Given the description of an element on the screen output the (x, y) to click on. 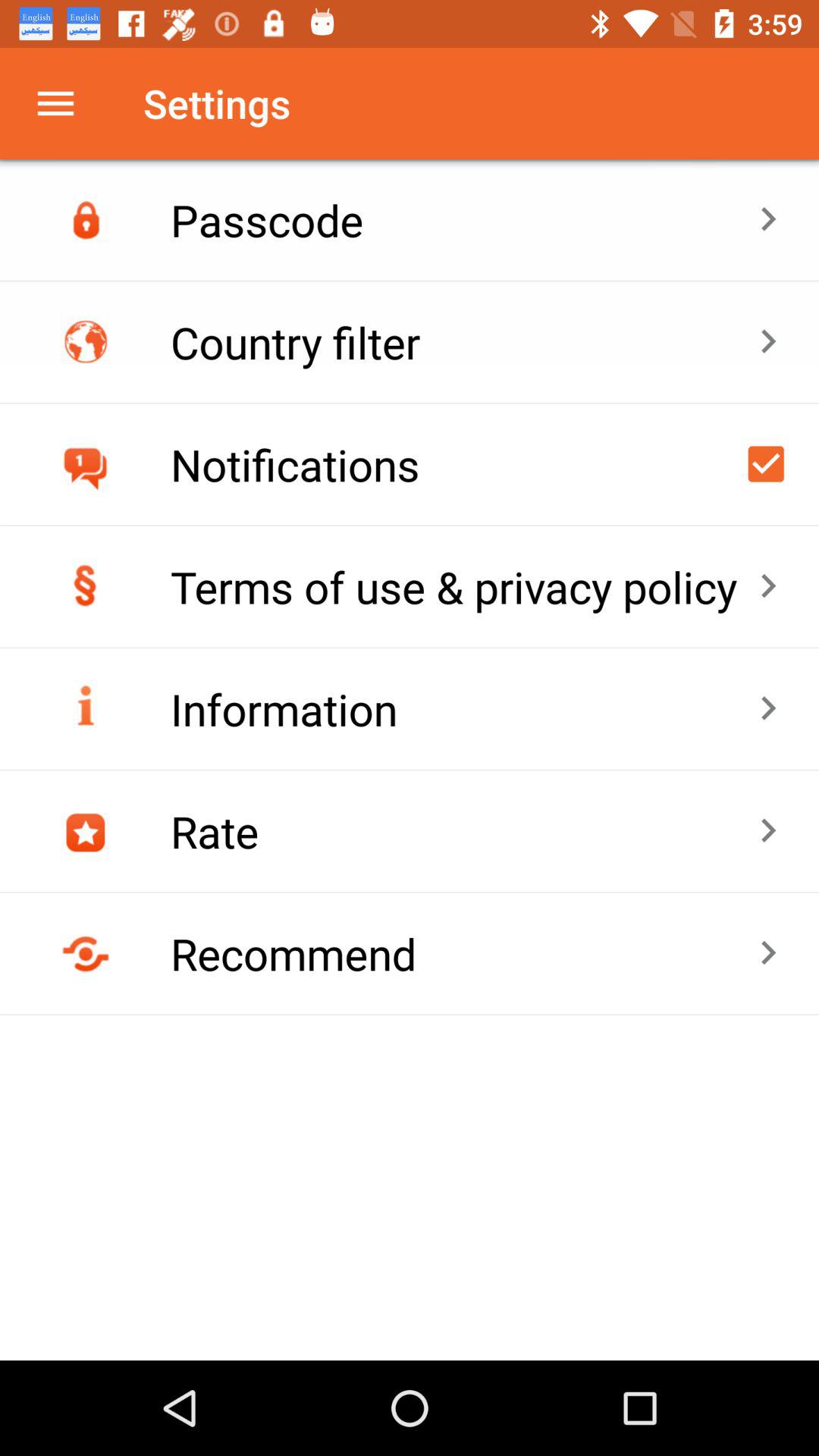
scroll until passcode (464, 219)
